Given the description of an element on the screen output the (x, y) to click on. 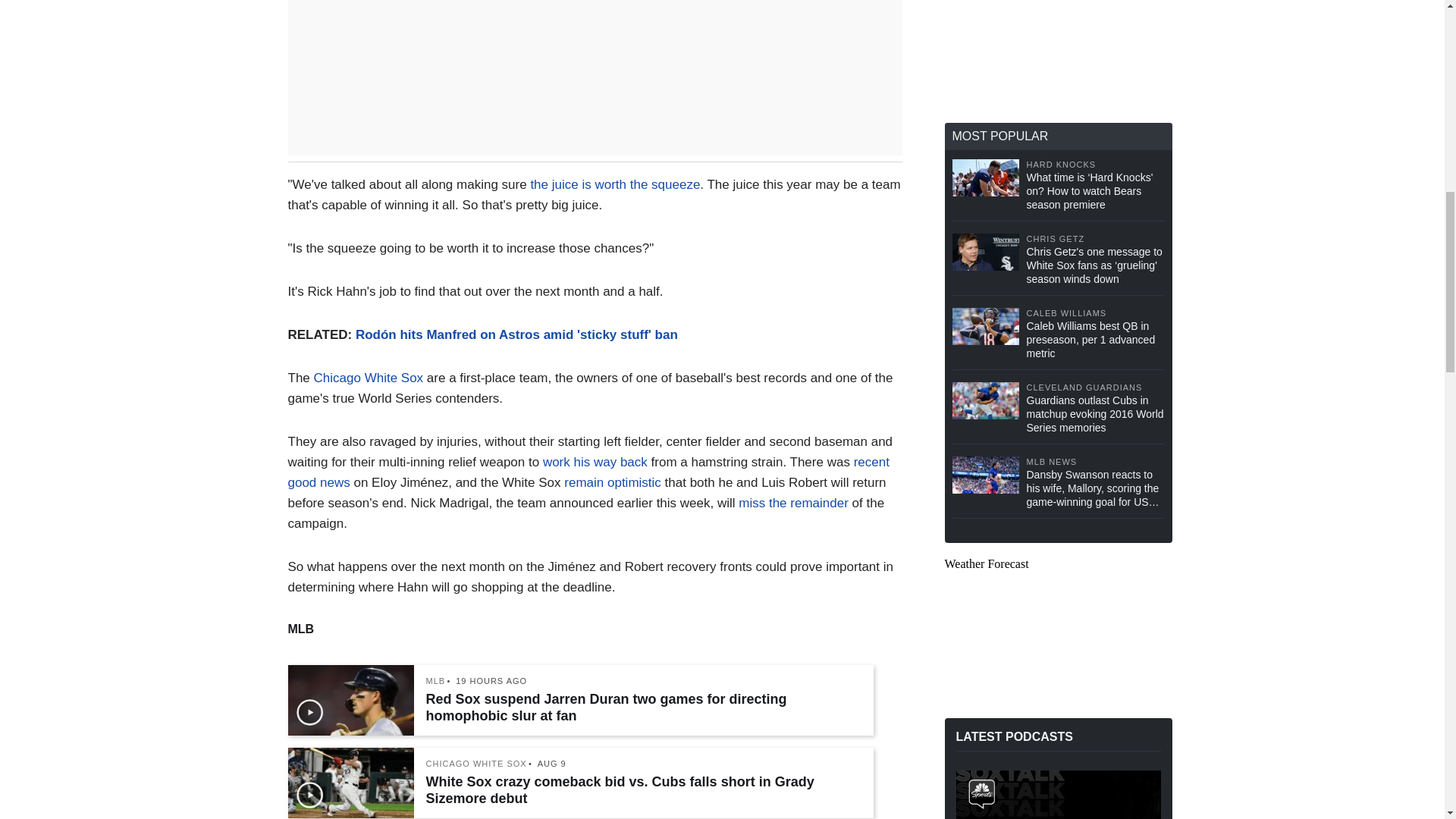
3rd party ad content (1058, 52)
the juice is worth the squeeze (614, 184)
recent good news (588, 472)
work his way back (595, 462)
Chicago White Sox (368, 377)
CHICAGO WHITE SOX (476, 763)
remain optimistic (612, 482)
miss the remainder (793, 503)
